Given the description of an element on the screen output the (x, y) to click on. 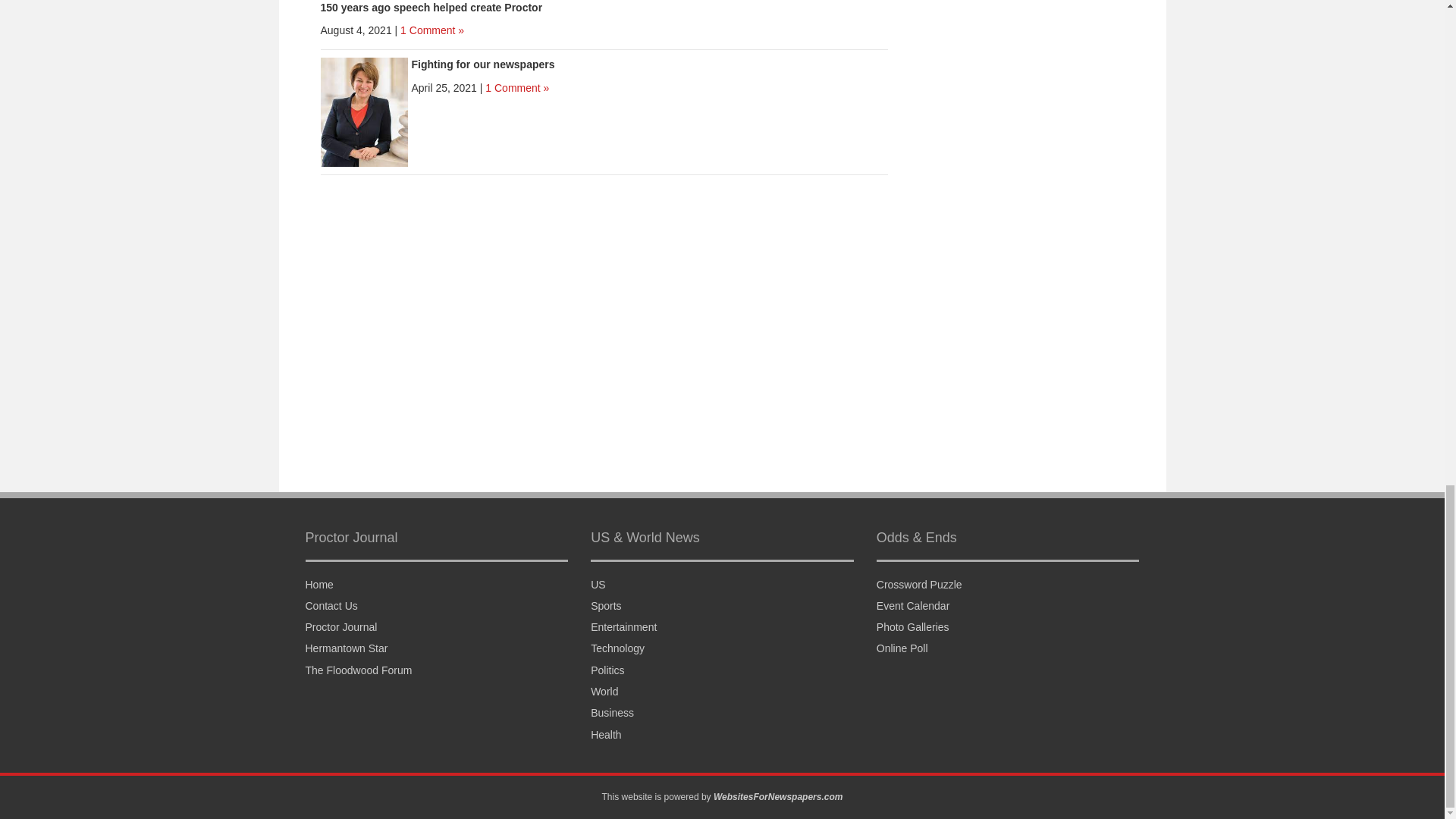
Fighting for our newspapers (363, 111)
Fighting for our newspapers (482, 64)
150 years ago speech helped create Proctor (430, 7)
